Given the description of an element on the screen output the (x, y) to click on. 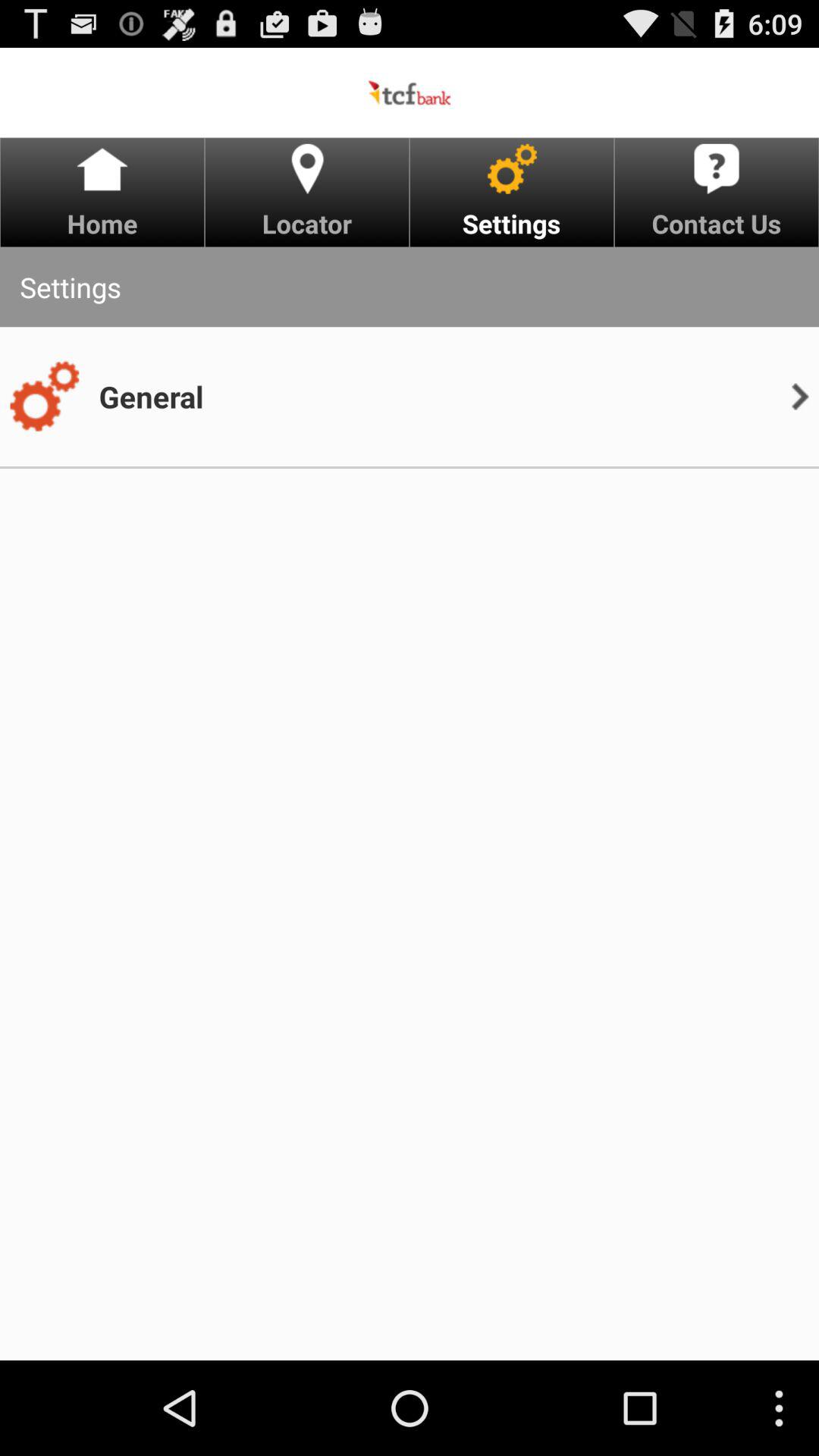
tap the icon below the settings app (44, 396)
